Given the description of an element on the screen output the (x, y) to click on. 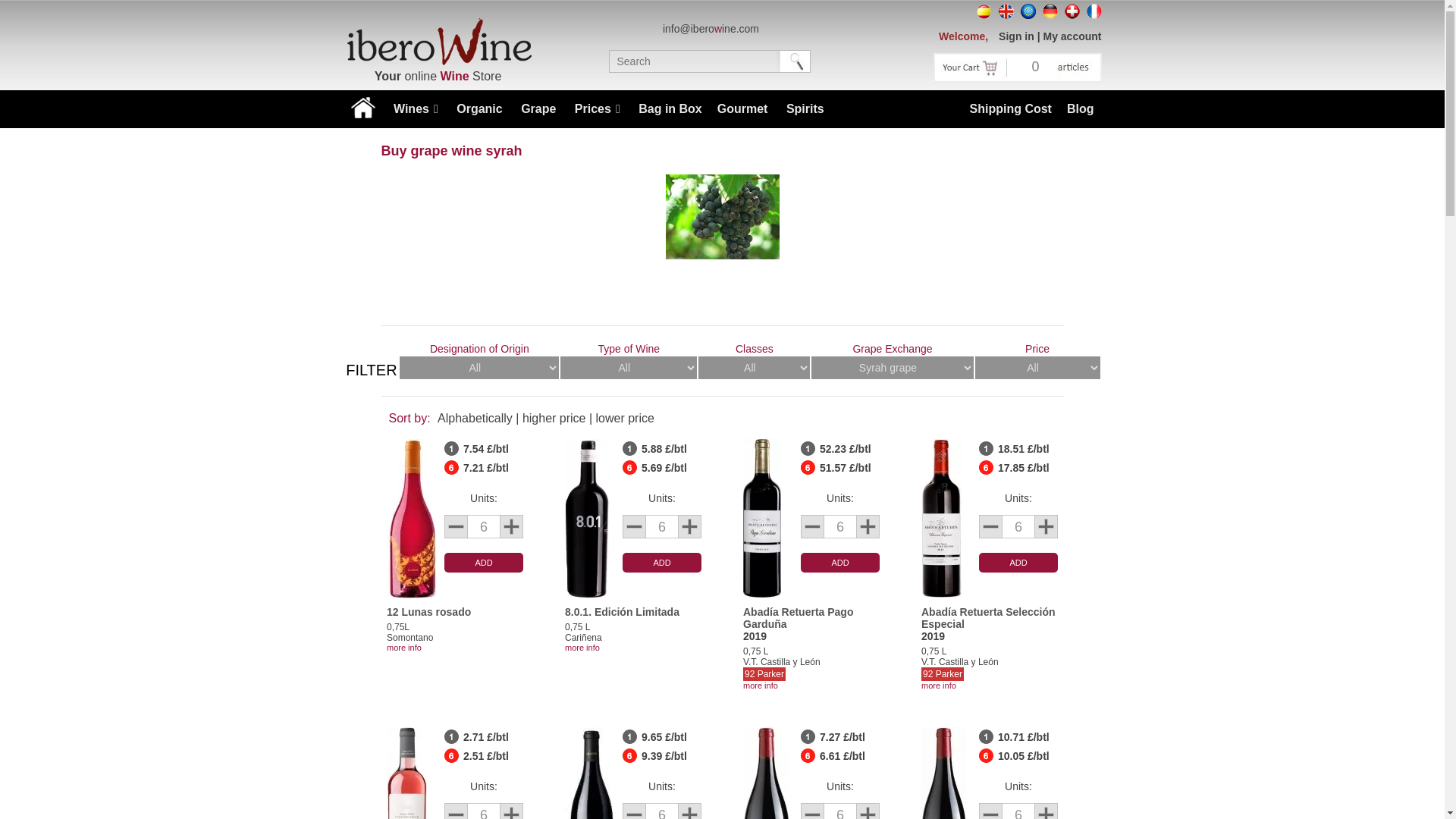
Your online Wine Store (437, 41)
Wines (415, 108)
Syrah grape (721, 216)
